Given the description of an element on the screen output the (x, y) to click on. 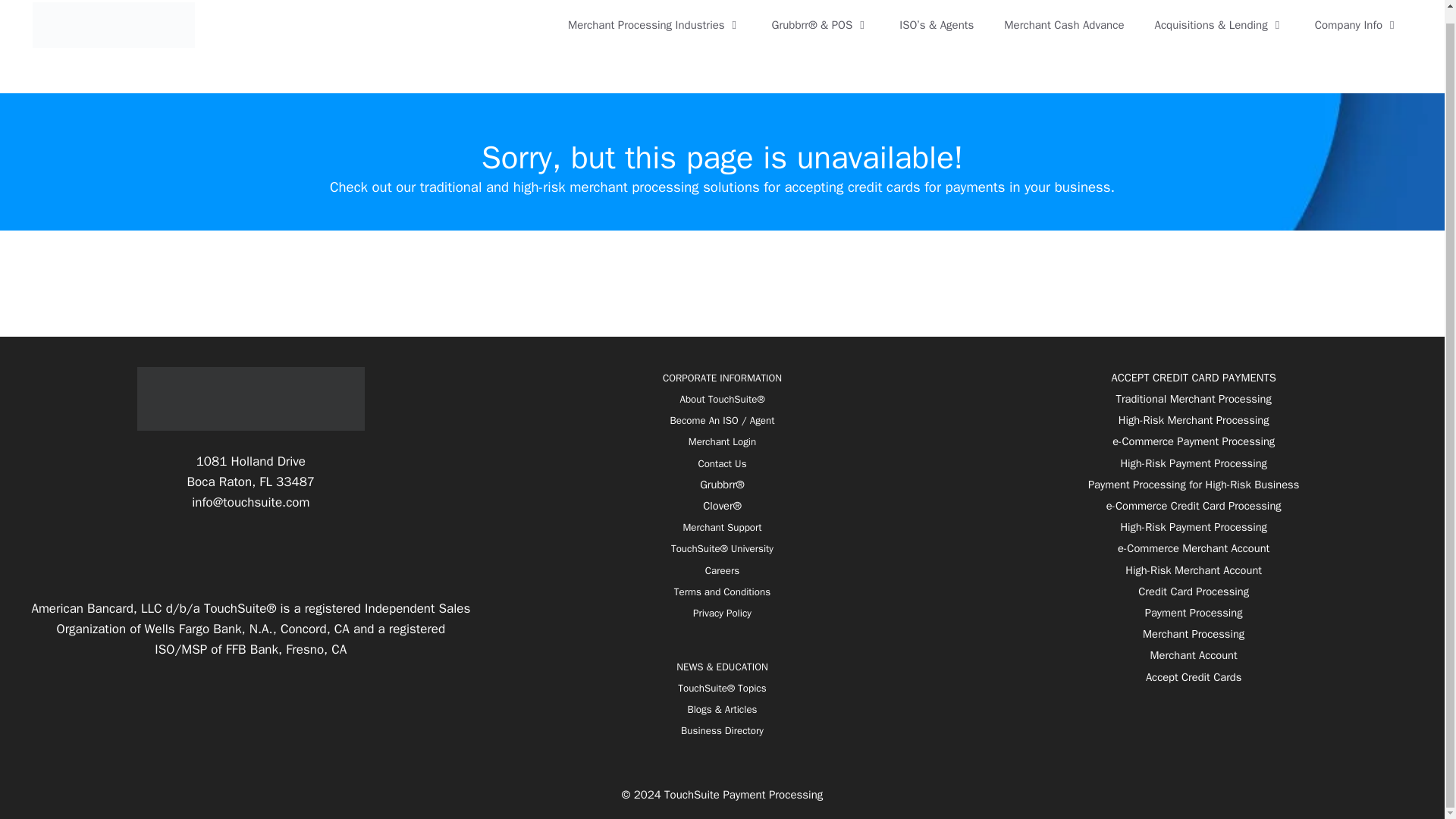
Merchant Cash Advance (1063, 24)
Company Info (1356, 24)
Merchant Login (721, 440)
Merchant Processing Industries (655, 24)
